Given the description of an element on the screen output the (x, y) to click on. 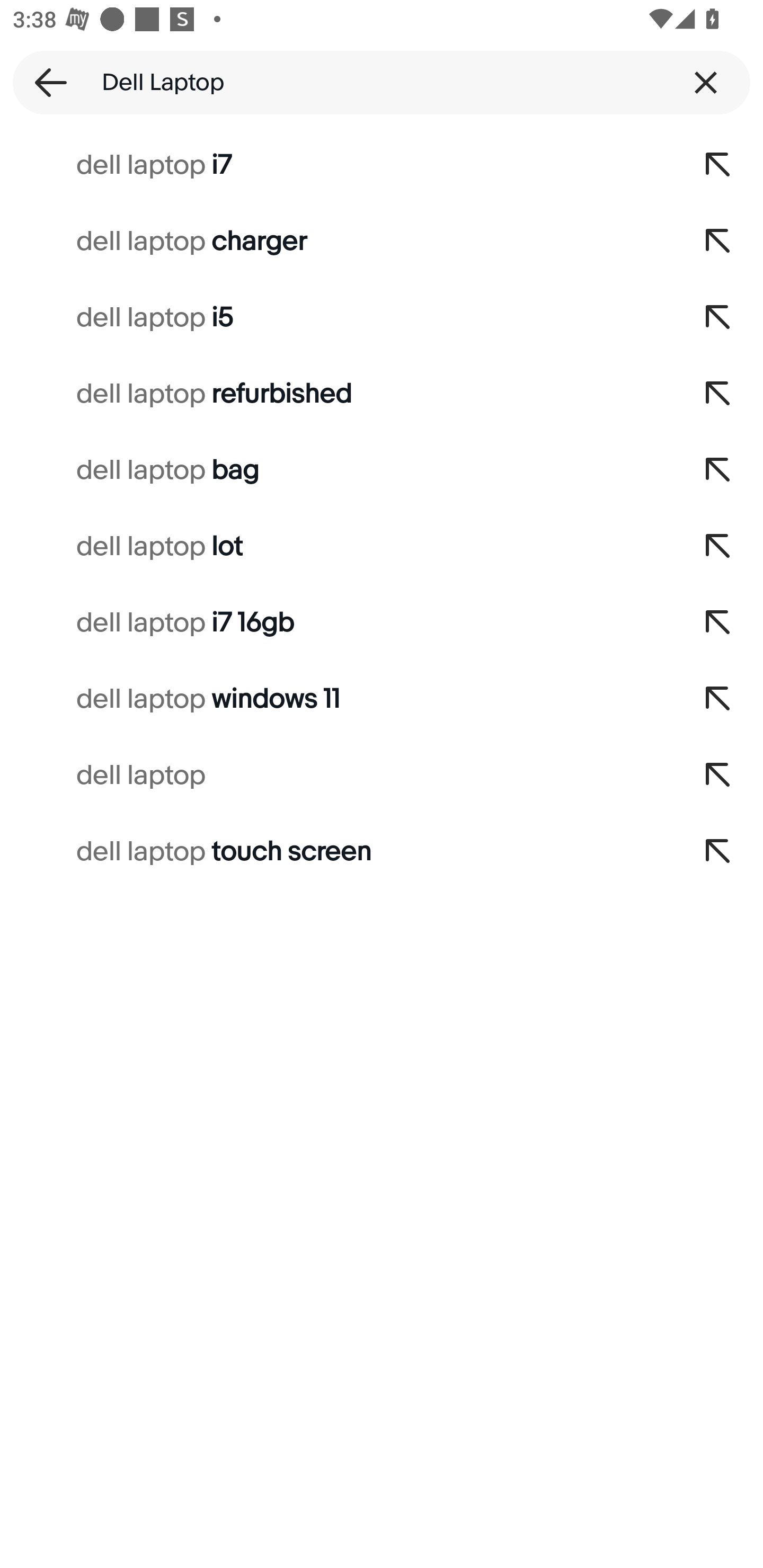
Back (44, 82)
Clear query (705, 82)
Dell Laptop (381, 82)
dell laptop i7 (336, 165)
Add to search query,dell laptop i7 (718, 165)
dell laptop charger (336, 241)
Add to search query,dell laptop charger (718, 241)
dell laptop i5 (336, 317)
Add to search query,dell laptop i5 (718, 317)
dell laptop refurbished (336, 393)
Add to search query,dell laptop refurbished (718, 393)
dell laptop bag (336, 470)
Add to search query,dell laptop bag (718, 470)
dell laptop lot (336, 546)
Add to search query,dell laptop lot (718, 546)
dell laptop i7 16gb (336, 622)
Add to search query,dell laptop i7 16gb (718, 622)
dell laptop windows 11 (336, 698)
Add to search query,dell laptop windows 11 (718, 698)
dell laptop (336, 774)
Add to search query,dell laptop (718, 774)
dell laptop touch screen (336, 851)
Add to search query,dell laptop touch screen (718, 851)
